Given the description of an element on the screen output the (x, y) to click on. 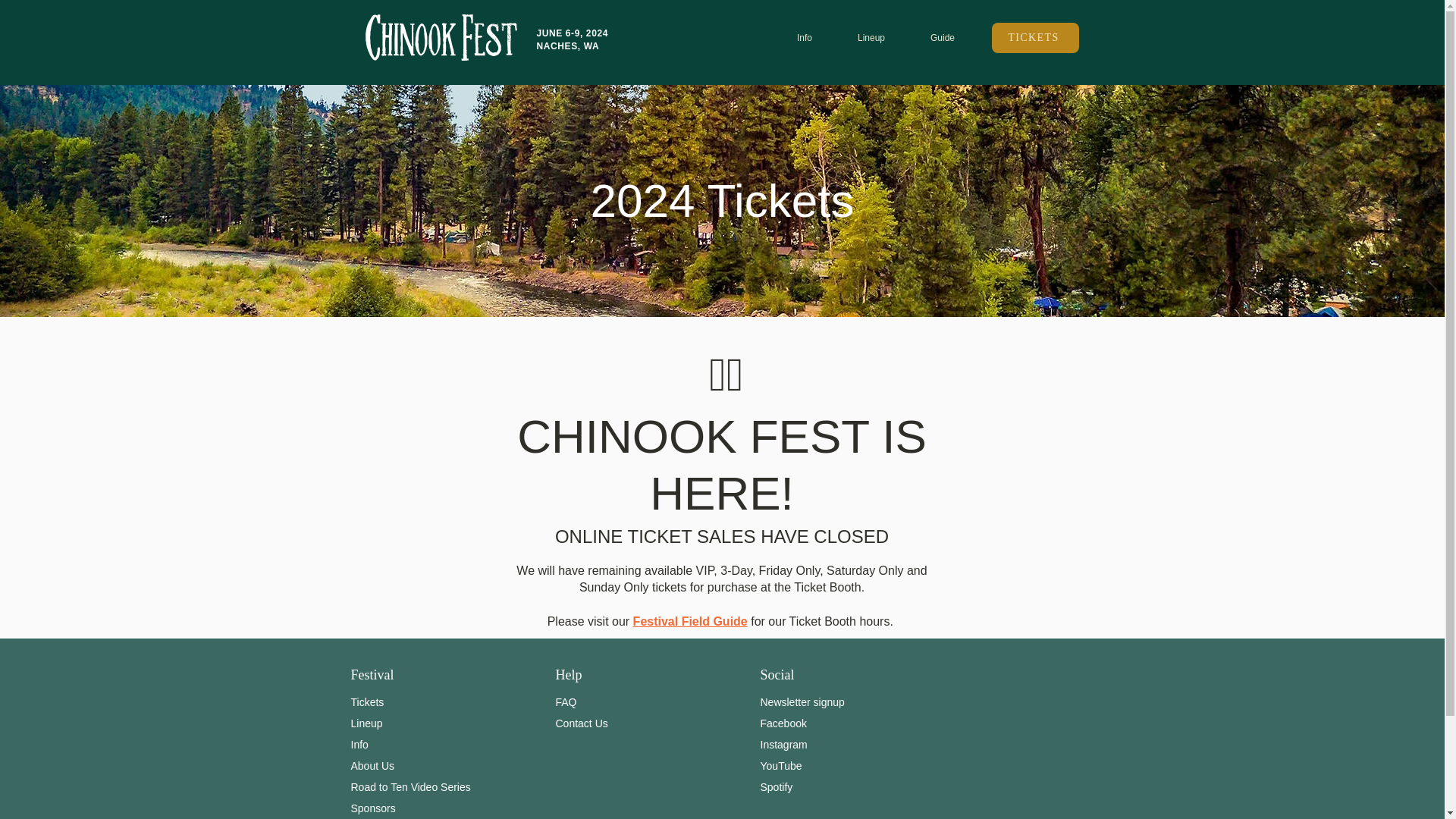
Lineup (871, 37)
Tickets (367, 702)
Lineup (365, 723)
Festival Field Guide (690, 621)
Facebook (783, 723)
Info (359, 744)
Social (776, 669)
FAQ (565, 702)
Sponsors (372, 808)
Spotify (776, 787)
Contact Us (580, 723)
Instagram (783, 744)
Road to Ten Video Series (410, 787)
Guide (941, 37)
Newsletter signup (802, 702)
